Given the description of an element on the screen output the (x, y) to click on. 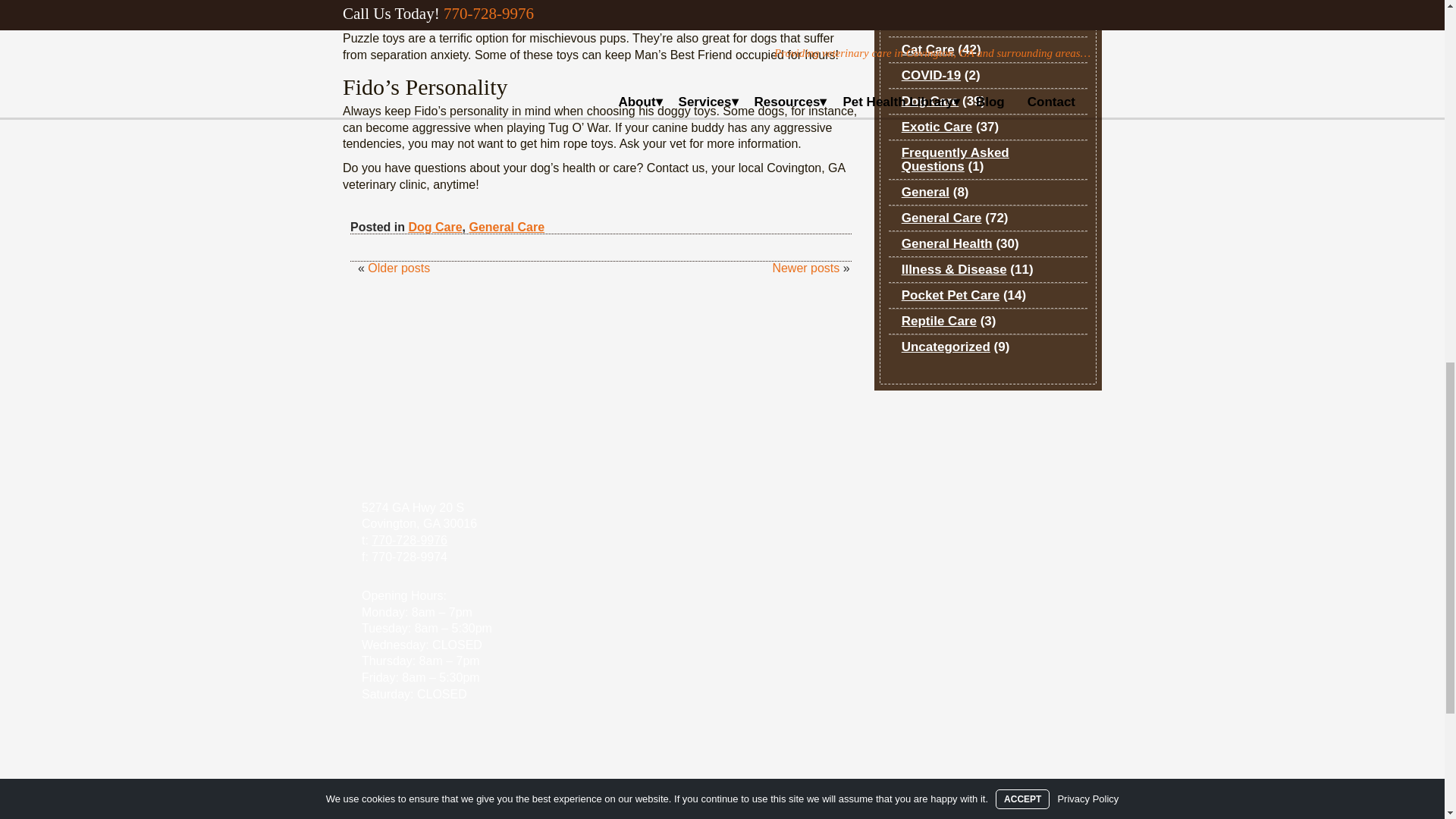
Shop Online Now! (721, 755)
